Given the description of an element on the screen output the (x, y) to click on. 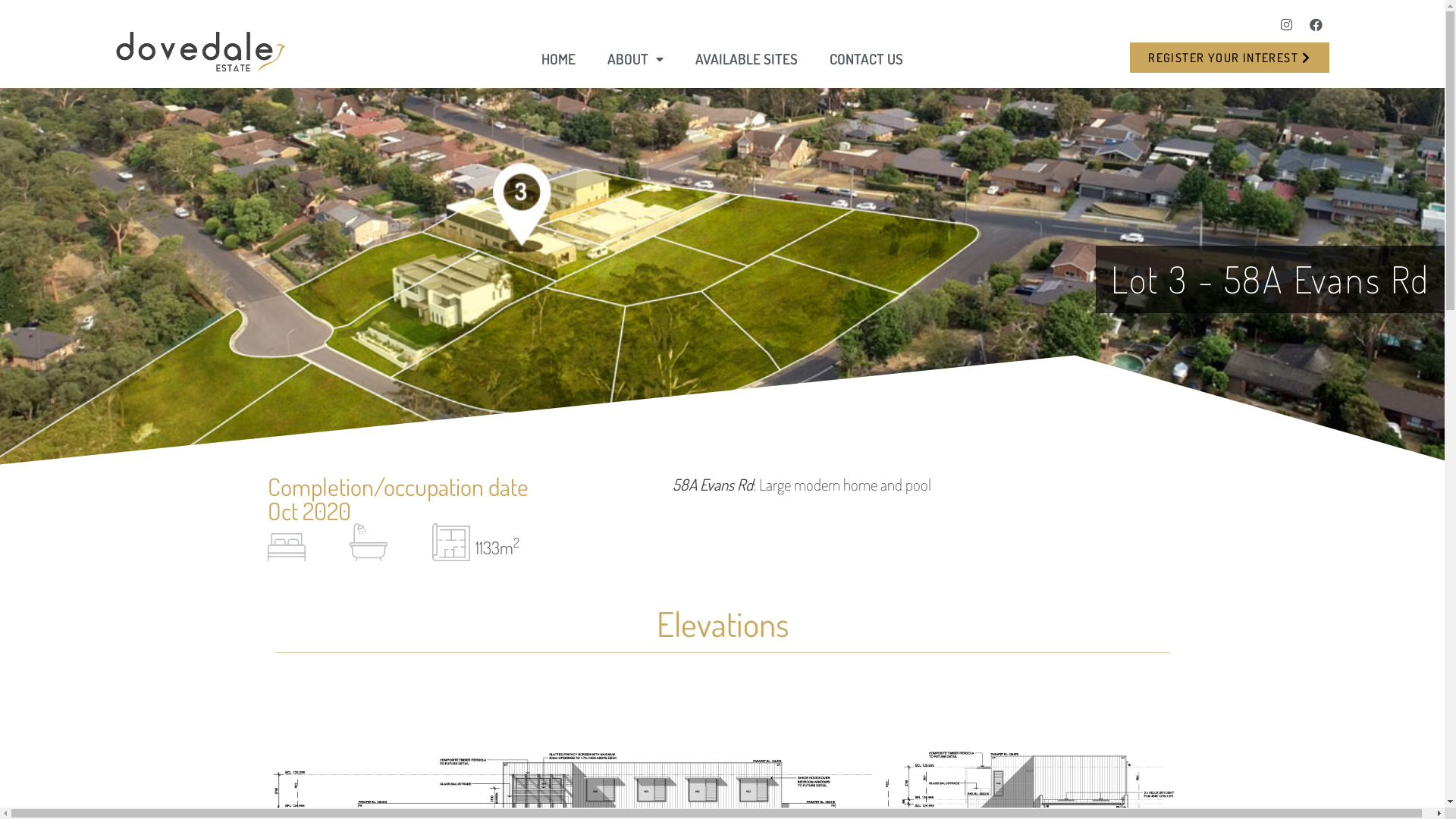
CONTACT US Element type: text (866, 58)
REGISTER YOUR INTEREST Element type: text (1228, 57)
AVAILABLE SITES Element type: text (746, 58)
HOME Element type: text (558, 58)
ABOUT Element type: text (635, 58)
